Given the description of an element on the screen output the (x, y) to click on. 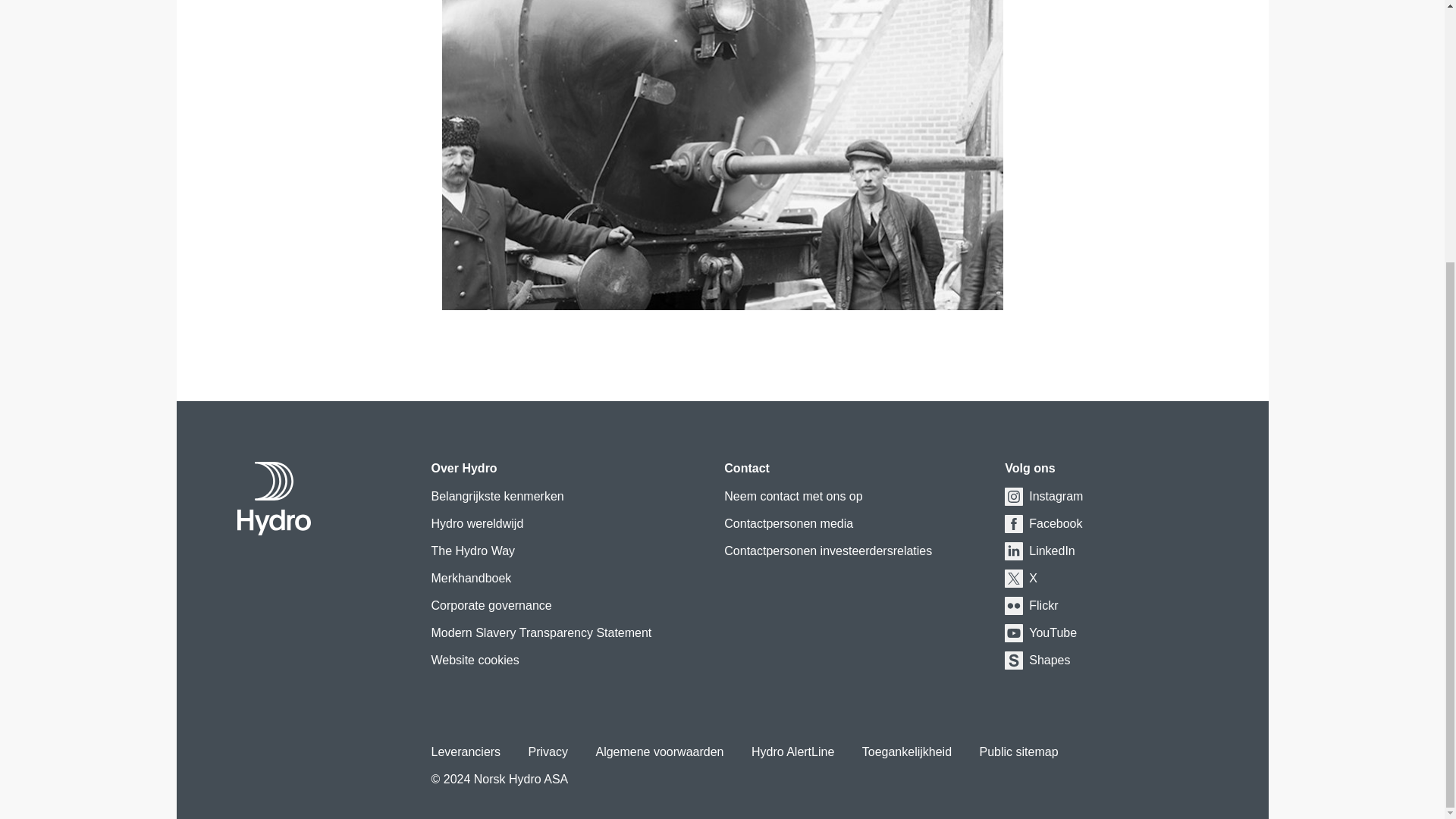
instagram icon (1013, 496)
LinkedIn (1052, 551)
Facebook (1055, 524)
The Hydro Way (472, 551)
Contactpersonen investeerdersrelaties (827, 551)
Modern Slavery Transparency Statement (540, 633)
Hydro wereldwijd (476, 524)
Belangrijkste kenmerken (496, 496)
Corporate governance (490, 606)
Neem contact met ons op (792, 496)
Instagram (1056, 496)
Merkhandboek (470, 578)
facebook icon (1013, 524)
shapes icon (1013, 660)
Website cookies (474, 660)
